Given the description of an element on the screen output the (x, y) to click on. 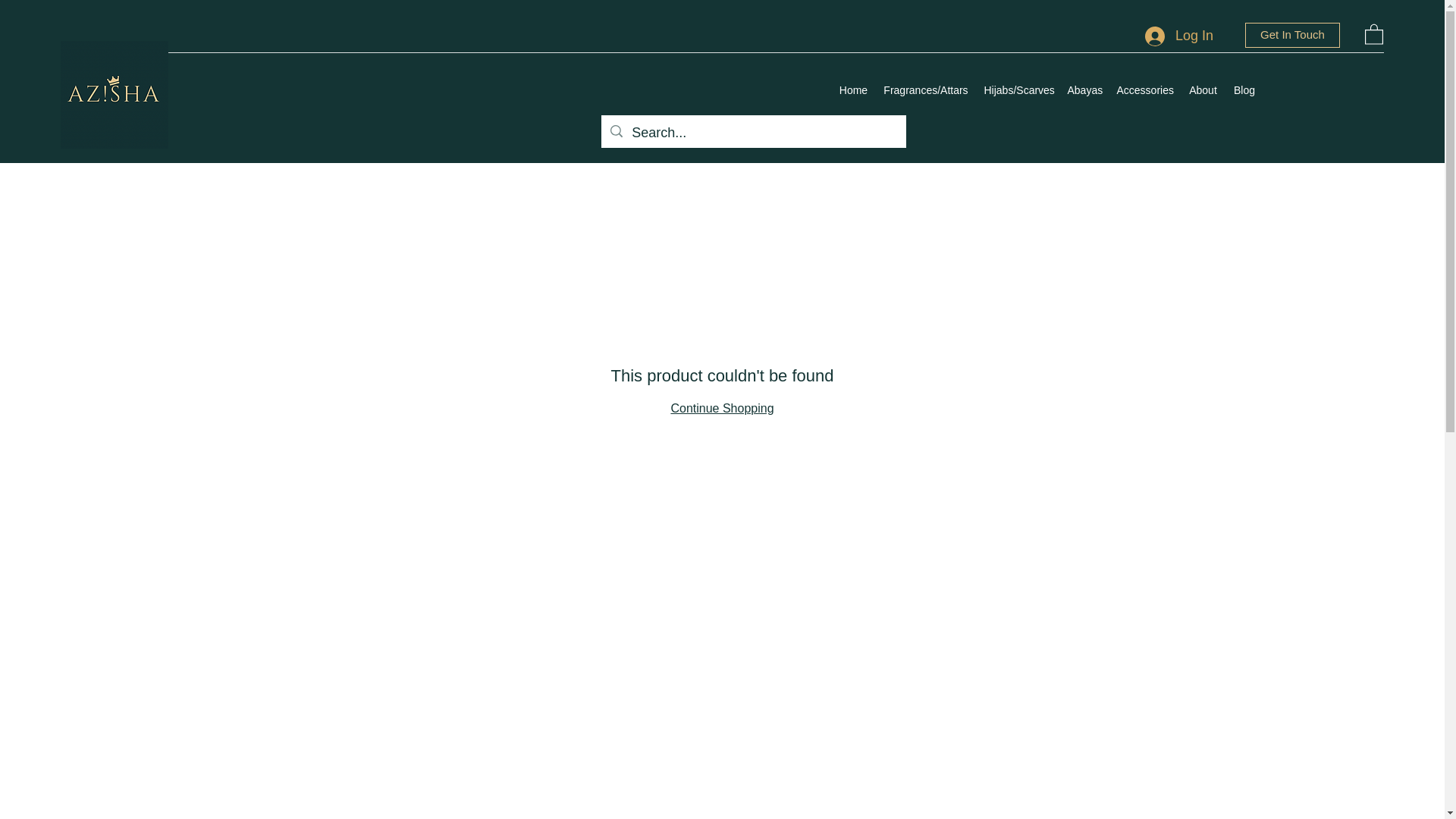
Home (853, 90)
Blog (1243, 90)
Continue Shopping (721, 408)
Accessories (1143, 90)
About (1202, 90)
Abayas (1084, 90)
Log In (1179, 36)
Get In Touch (1291, 34)
